Given the description of an element on the screen output the (x, y) to click on. 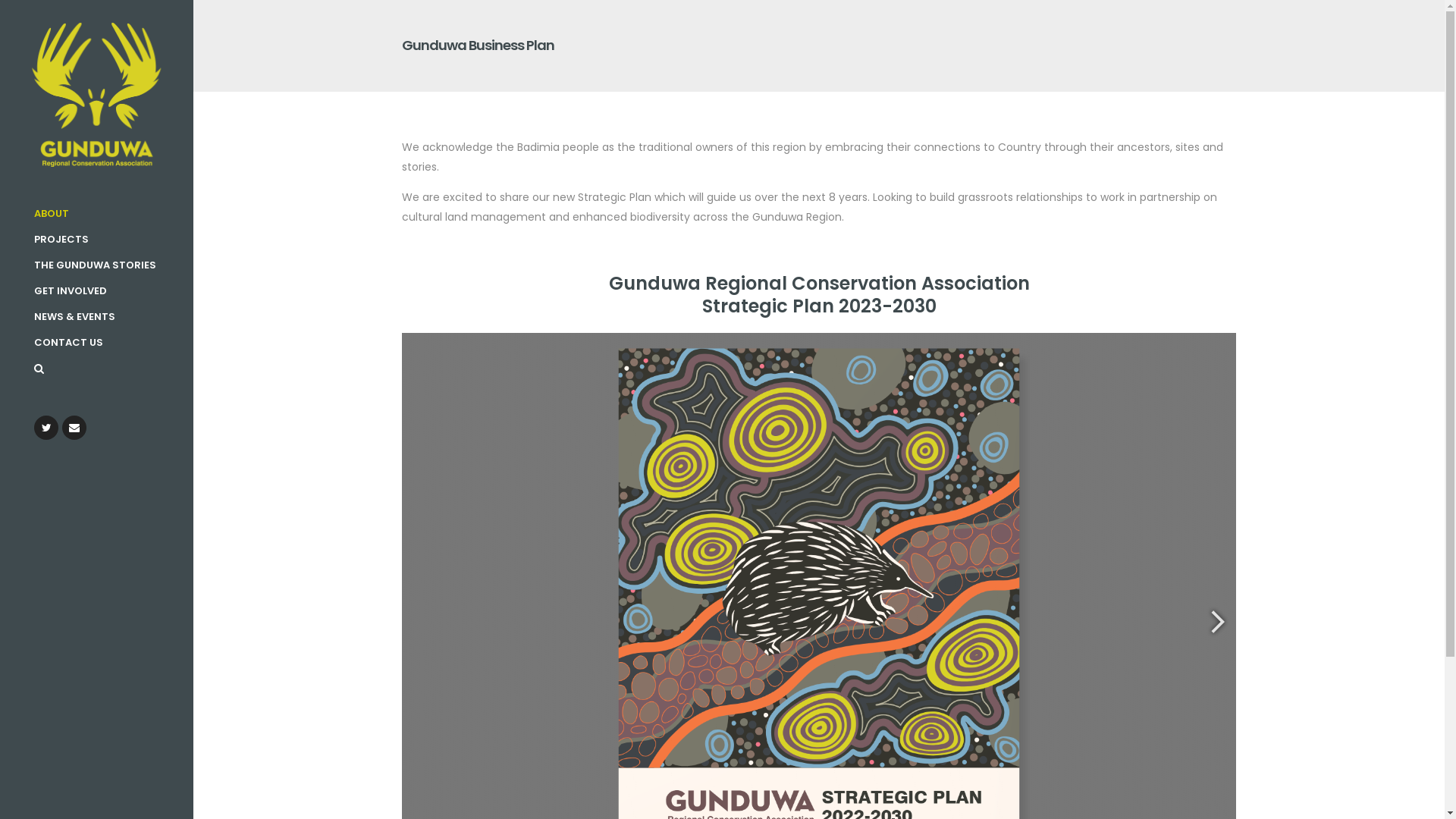
CONTACT US Element type: text (113, 342)
Next Page Element type: hover (1217, 623)
ABOUT Element type: text (113, 213)
THE GUNDUWA STORIES Element type: text (113, 265)
PROJECTS Element type: text (113, 239)
GET INVOLVED Element type: text (113, 291)
NEWS & EVENTS Element type: text (113, 316)
